Given the description of an element on the screen output the (x, y) to click on. 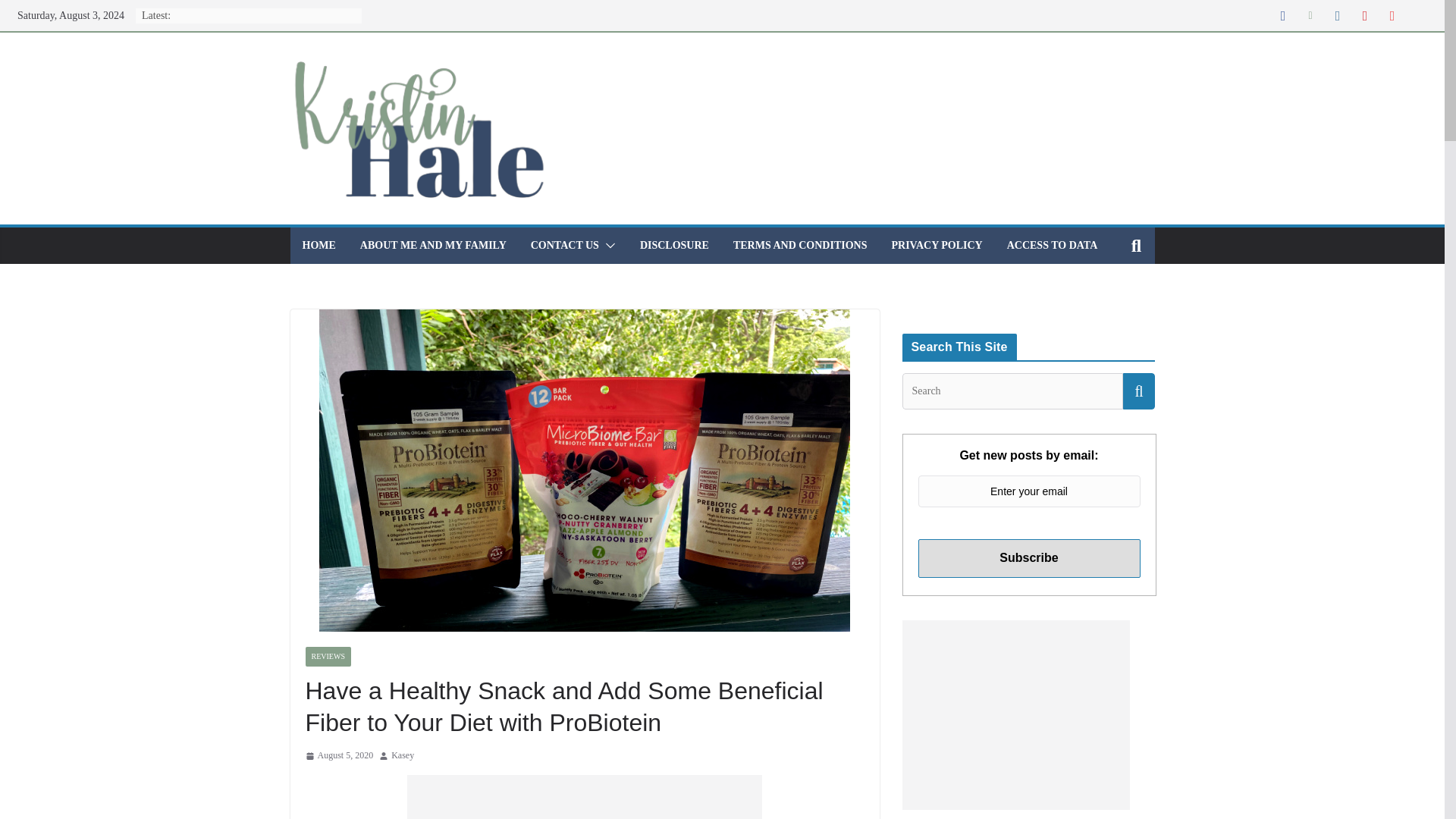
ABOUT ME AND MY FAMILY (432, 245)
Subscribe (1028, 558)
ACCESS TO DATA (1052, 245)
Kasey (402, 755)
Kasey (402, 755)
August 5, 2020 (338, 755)
HOME (317, 245)
REVIEWS (327, 656)
CONTACT US (564, 245)
1:50 am (338, 755)
PRIVACY POLICY (936, 245)
DISCLOSURE (674, 245)
TERMS AND CONDITIONS (800, 245)
